Given the description of an element on the screen output the (x, y) to click on. 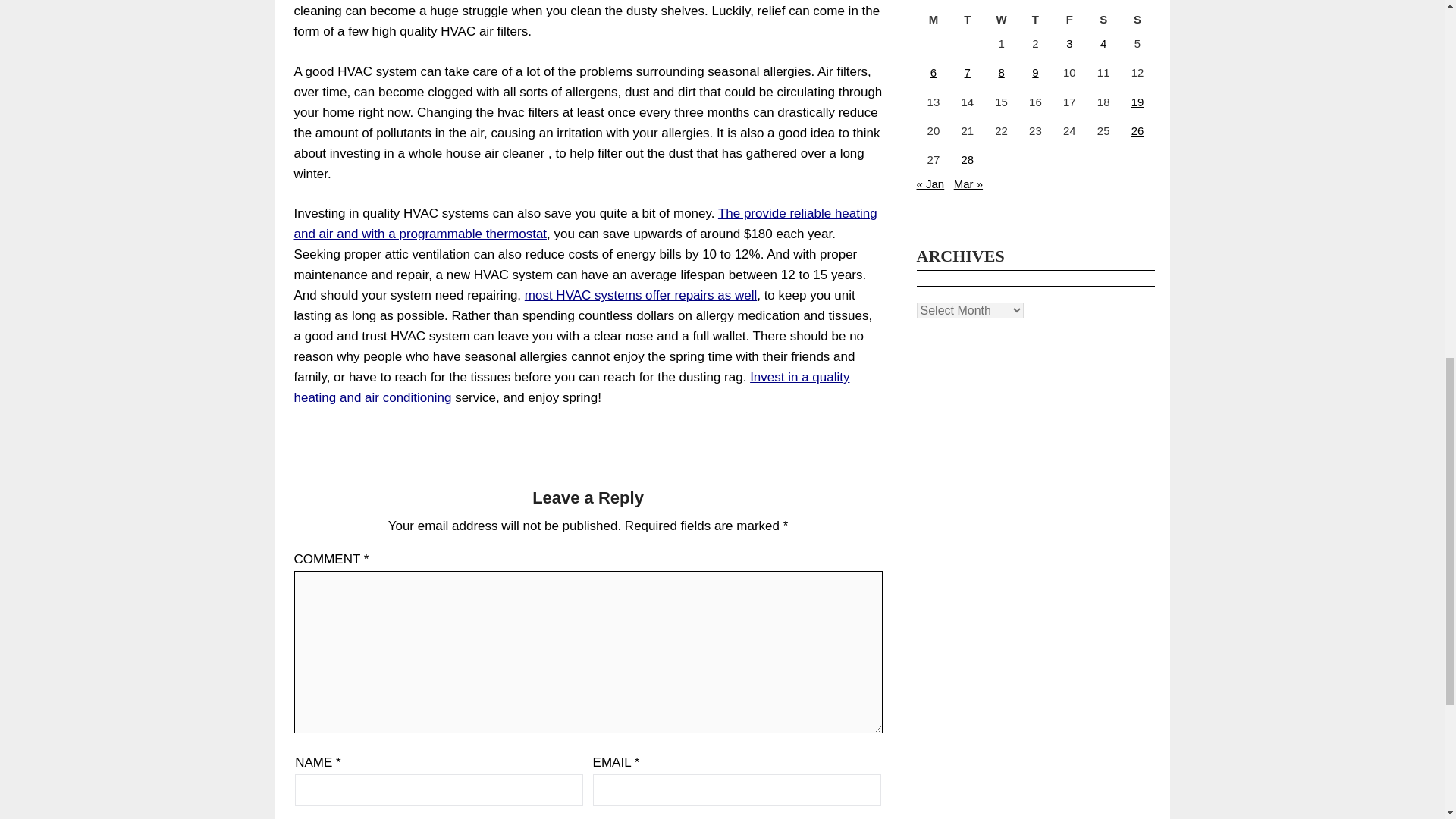
Monday (932, 19)
19 (1137, 101)
Thursday (1034, 19)
Friday (1069, 19)
most HVAC systems offer repairs as well (640, 295)
28 (967, 159)
26 (1137, 130)
For more info on Hvac ductwork (640, 295)
Sunday (1137, 19)
